Given the description of an element on the screen output the (x, y) to click on. 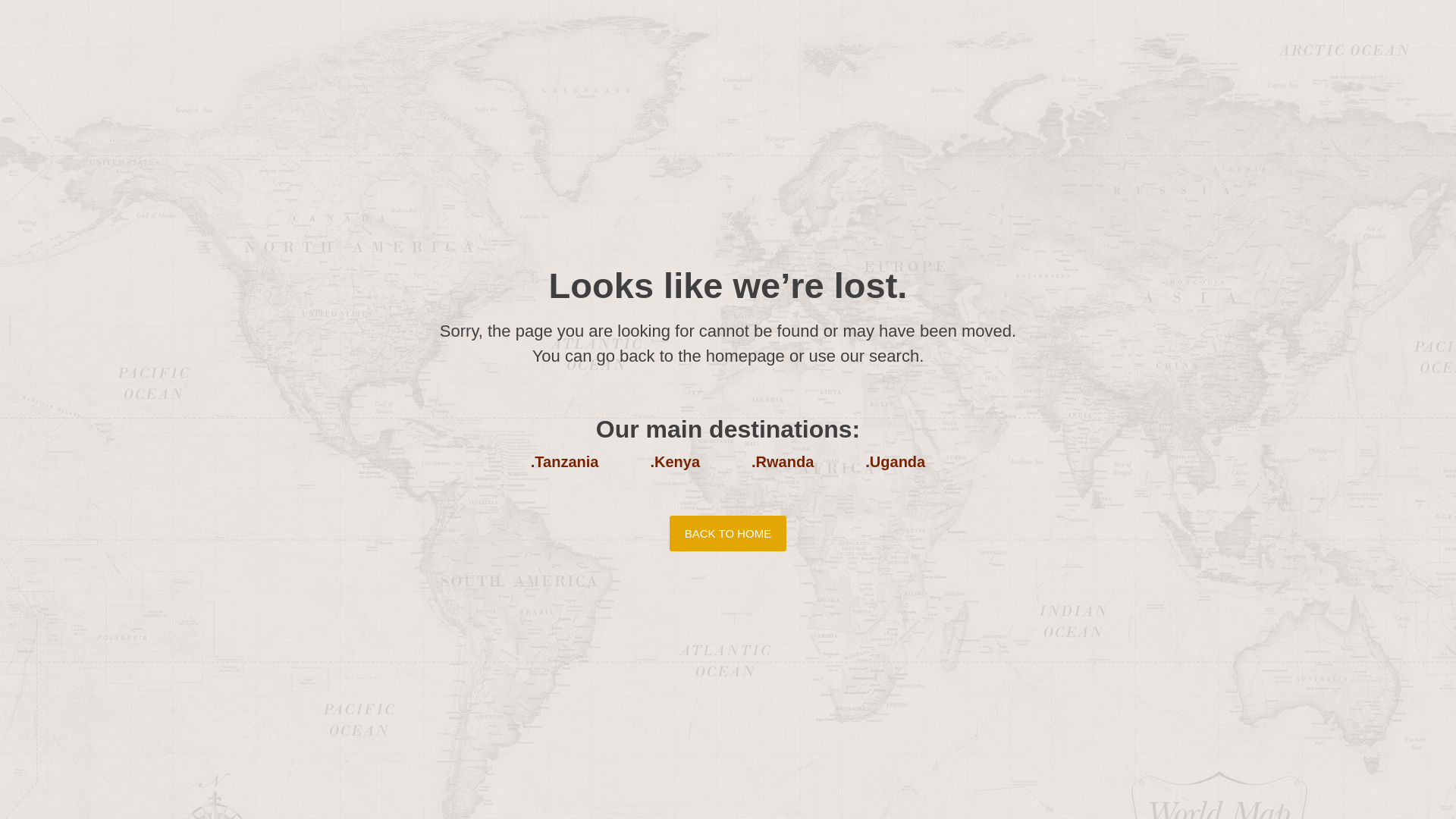
.Tanzania (564, 461)
BACK TO HOME (727, 533)
.Kenya (674, 461)
.Rwanda (782, 461)
.Uganda (895, 461)
